Given the description of an element on the screen output the (x, y) to click on. 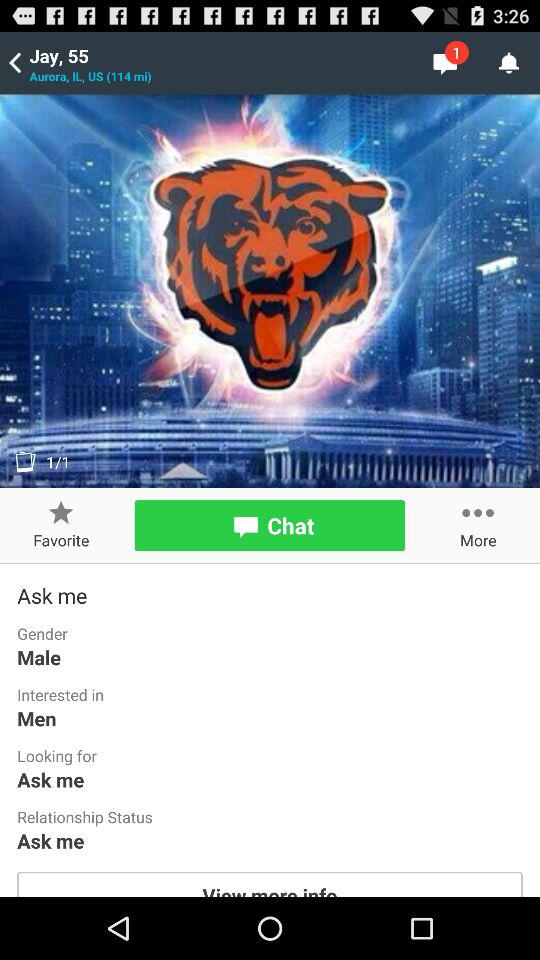
jump to the view more info button (269, 883)
